Given the description of an element on the screen output the (x, y) to click on. 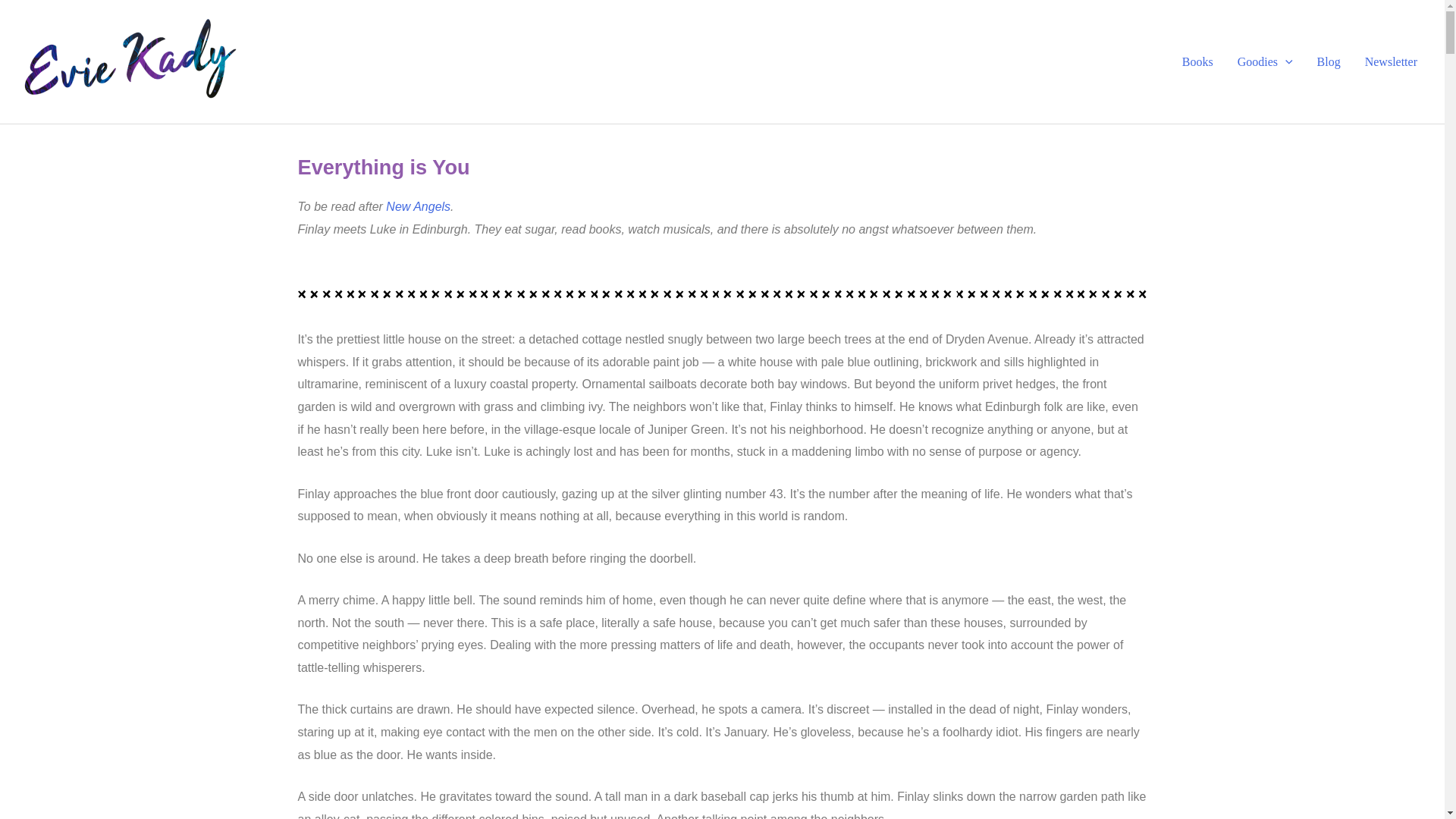
New Angels (417, 205)
Goodies (1264, 61)
Blog (1328, 61)
Books (1197, 61)
Newsletter (1390, 61)
